Given the description of an element on the screen output the (x, y) to click on. 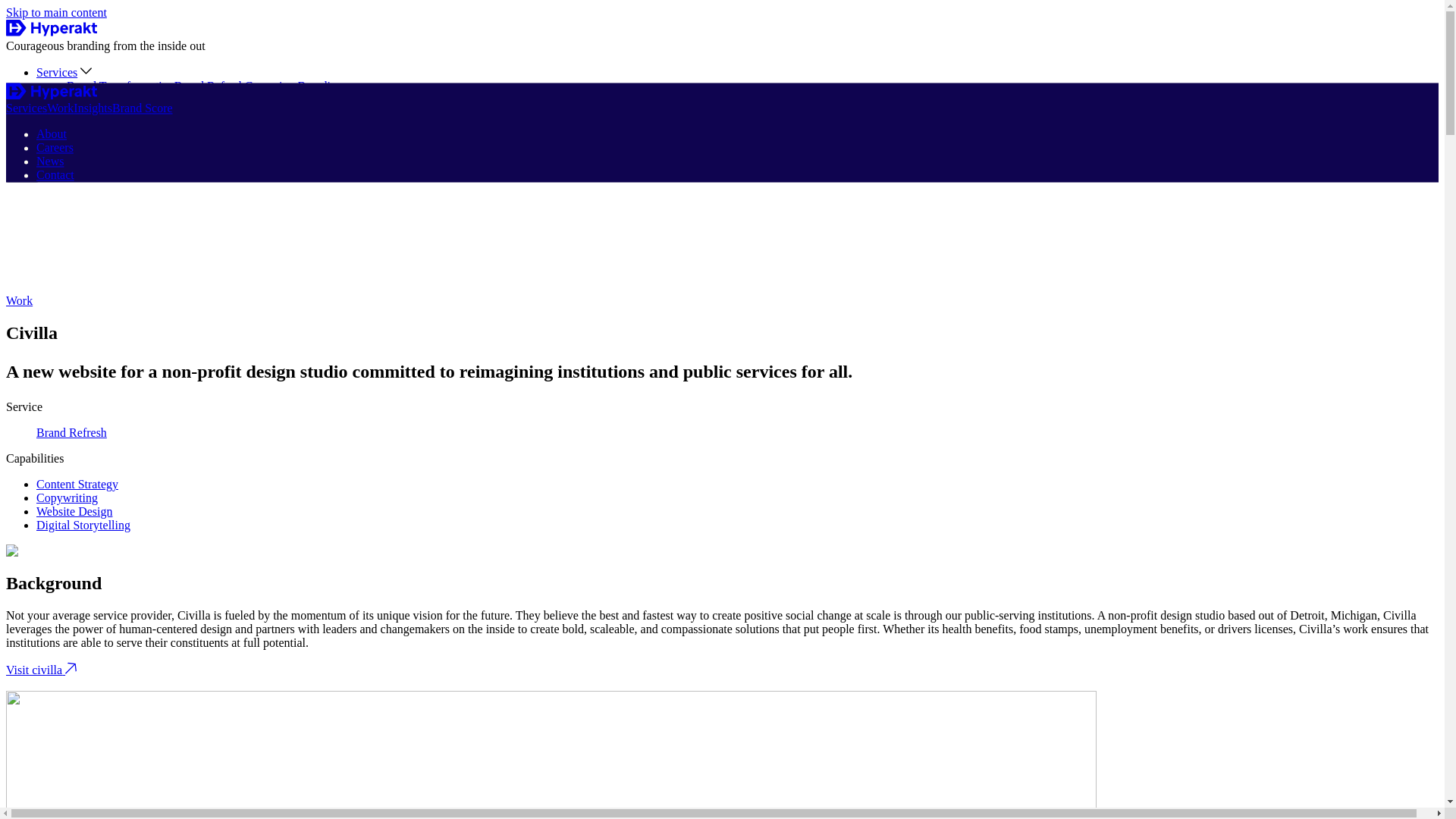
Insights (55, 113)
Brand Transformation (120, 85)
Brand Refresh (71, 431)
Hyperakt (51, 27)
Copywriting (66, 497)
Services (25, 108)
Skip to main content (55, 11)
Insights (93, 108)
Careers (55, 147)
Contact (55, 140)
Contact (55, 174)
About (51, 133)
Campaign Branding (293, 85)
Work (18, 300)
Open Menu (22, 170)
